Given the description of an element on the screen output the (x, y) to click on. 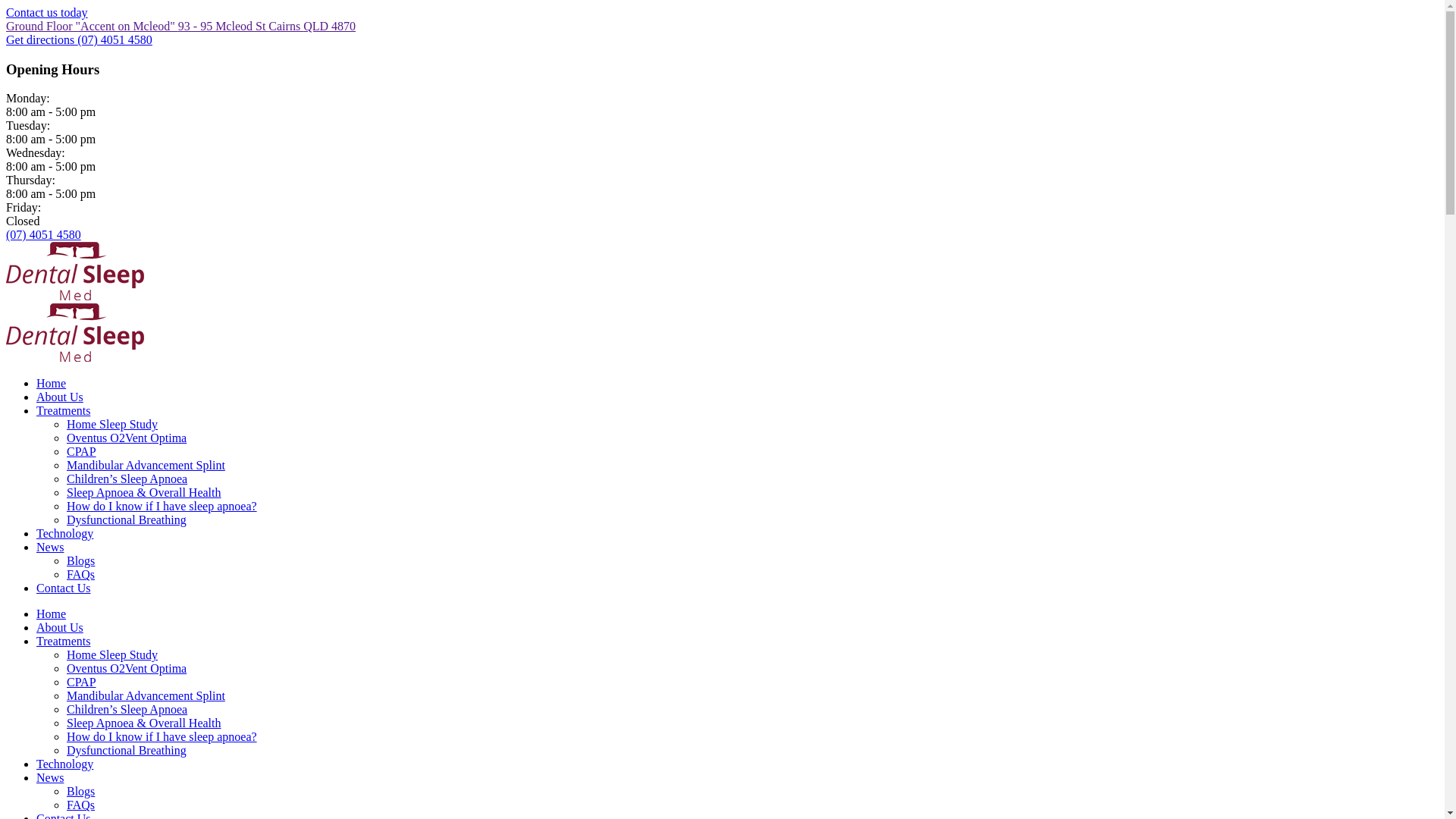
Treatments Element type: text (63, 410)
Get directions Element type: text (41, 39)
CPAP Element type: text (81, 681)
(07) 4051 4580 Element type: text (114, 39)
About Us Element type: text (59, 396)
Home Element type: text (50, 613)
Technology Element type: text (64, 763)
FAQs Element type: text (80, 804)
Mandibular Advancement Splint Element type: text (145, 464)
v2Artboard 2 Element type: hover (75, 270)
News Element type: text (49, 777)
v2Artboard 2 Element type: hover (75, 332)
Blogs Element type: text (80, 790)
News Element type: text (49, 546)
Dysfunctional Breathing Element type: text (126, 749)
Home Sleep Study Element type: text (111, 654)
Sleep Apnoea & Overall Health Element type: text (143, 492)
About Us Element type: text (59, 627)
Blogs Element type: text (80, 560)
How do I know if I have sleep apnoea? Element type: text (161, 736)
Sleep Apnoea & Overall Health Element type: text (143, 722)
(07) 4051 4580 Element type: text (43, 234)
Oventus O2Vent Optima Element type: text (126, 437)
Oventus O2Vent Optima Element type: text (126, 668)
Contact Us Element type: text (63, 587)
Mandibular Advancement Splint Element type: text (145, 695)
Dysfunctional Breathing Element type: text (126, 519)
CPAP Element type: text (81, 451)
Home Element type: text (50, 382)
Treatments Element type: text (63, 640)
Contact us today Element type: text (46, 12)
FAQs Element type: text (80, 573)
Technology Element type: text (64, 533)
Home Sleep Study Element type: text (111, 423)
How do I know if I have sleep apnoea? Element type: text (161, 505)
